Given the description of an element on the screen output the (x, y) to click on. 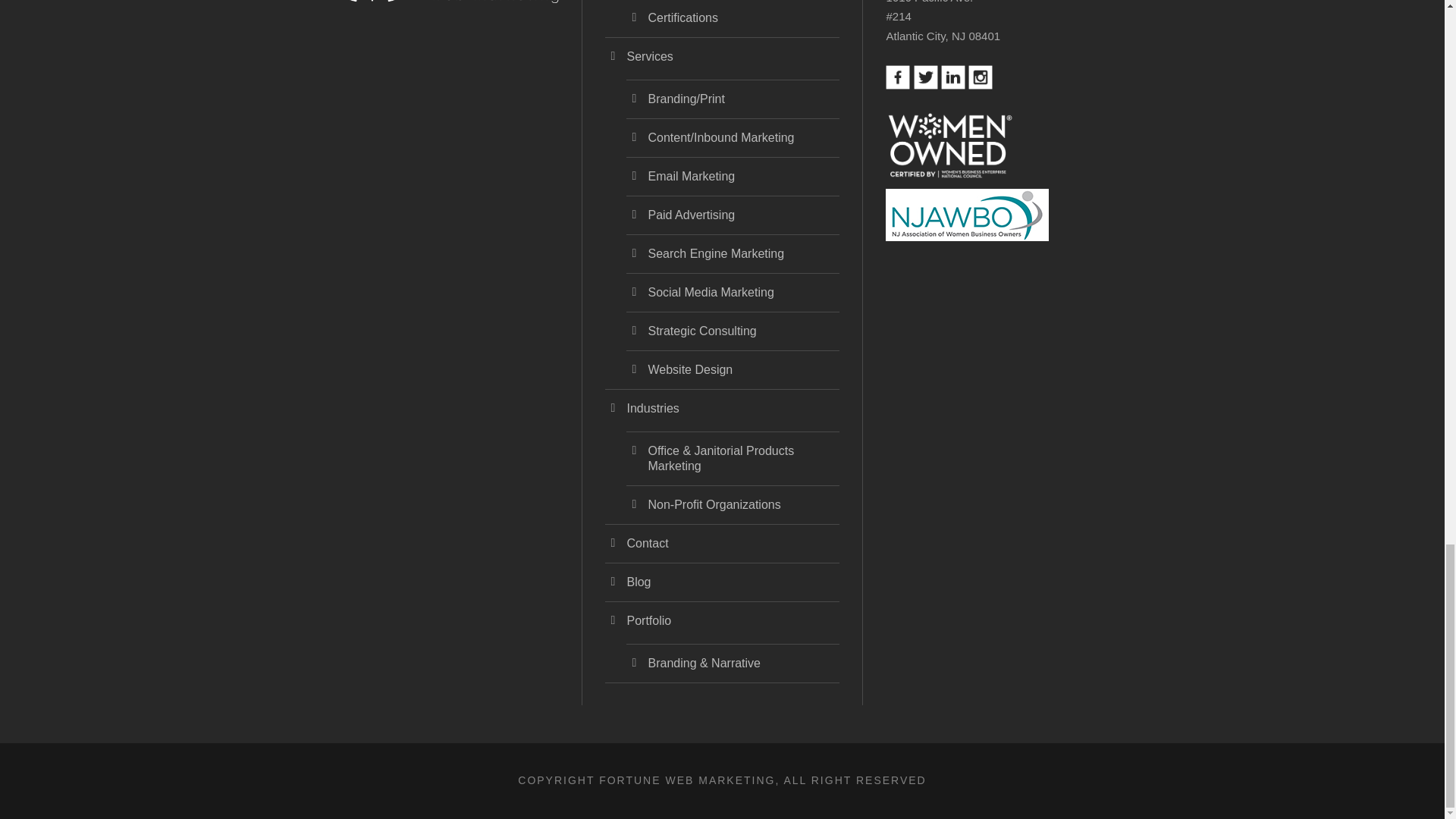
New Jersey Association of Women Business Owners Member (966, 214)
Certifications (682, 17)
Email Marketing (691, 175)
Services (649, 56)
